Given the description of an element on the screen output the (x, y) to click on. 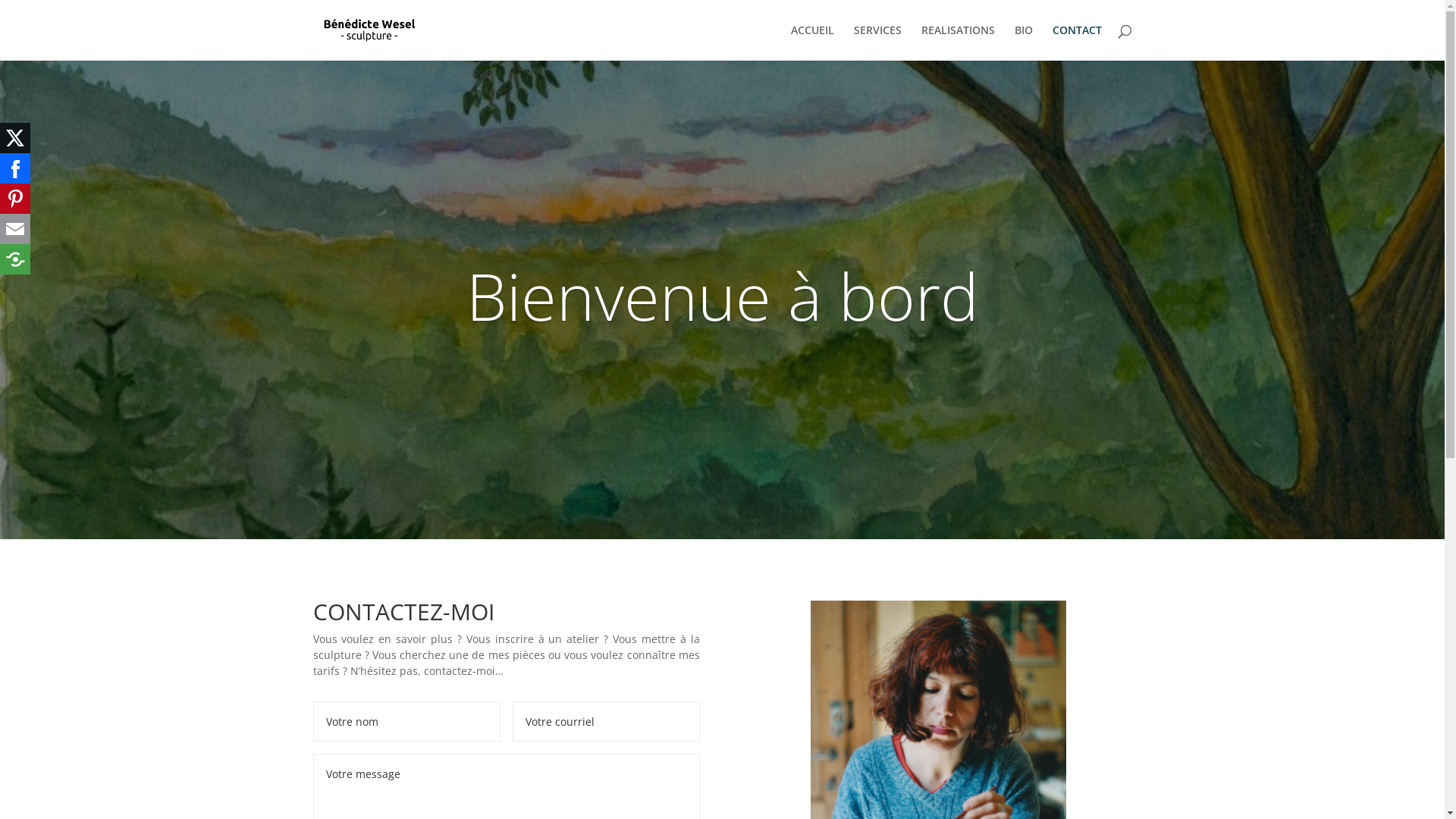
CONTACT Element type: text (1076, 42)
BIO Element type: text (1023, 42)
REALISATIONS Element type: text (957, 42)
Facebook Element type: hover (15, 168)
More Options Element type: hover (15, 259)
X (Twitter) Element type: hover (15, 137)
Email This Element type: hover (15, 228)
Pinterest Element type: hover (15, 198)
SERVICES Element type: text (877, 42)
ACCUEIL Element type: text (811, 42)
